Given the description of an element on the screen output the (x, y) to click on. 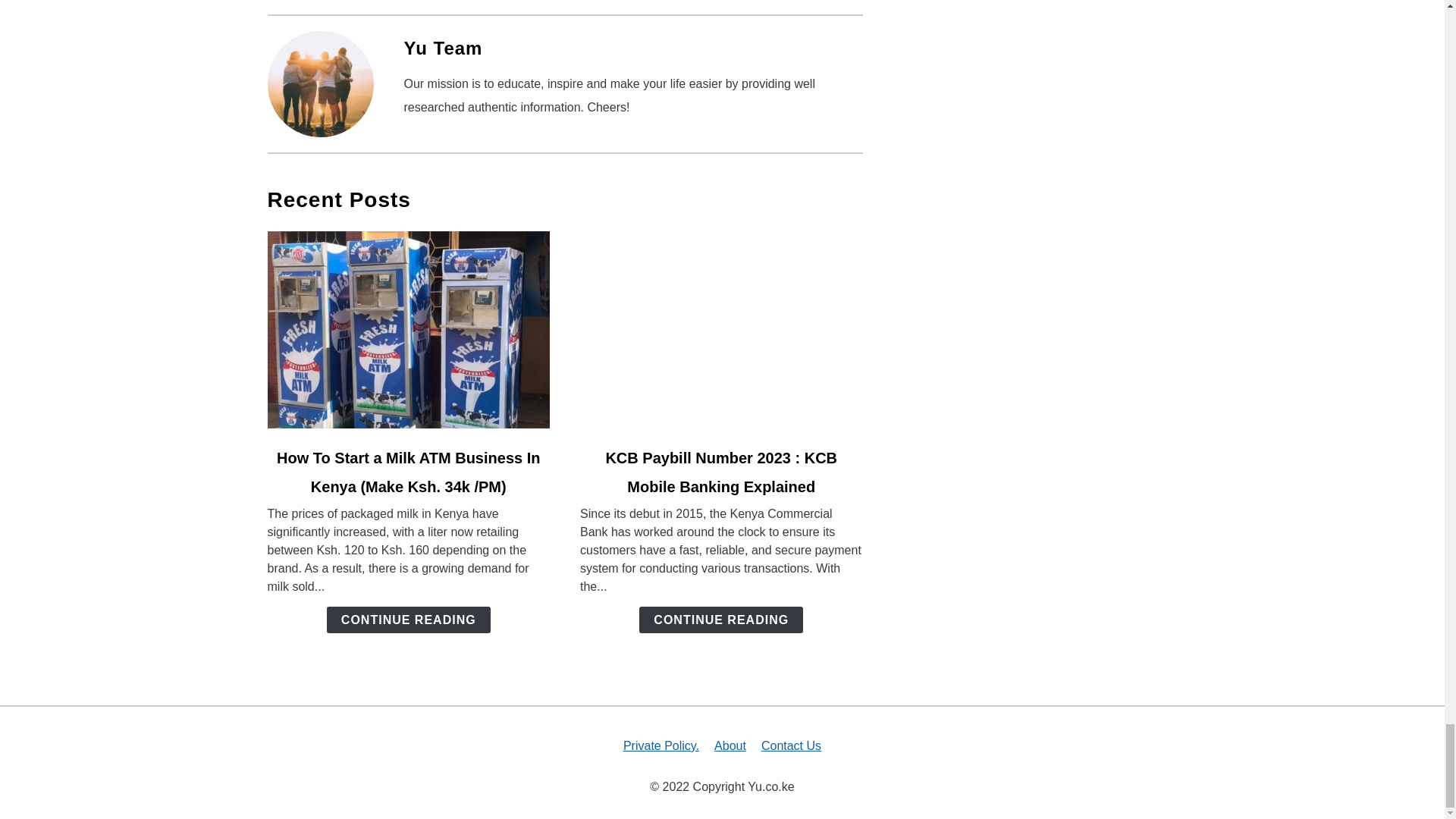
Contact Us (791, 745)
Yu Team (442, 47)
CONTINUE READING (721, 619)
KCB Paybill Number 2023 : KCB Mobile Banking Explained (721, 472)
About (729, 745)
Private Policy. (660, 745)
CONTINUE READING (408, 619)
